Given the description of an element on the screen output the (x, y) to click on. 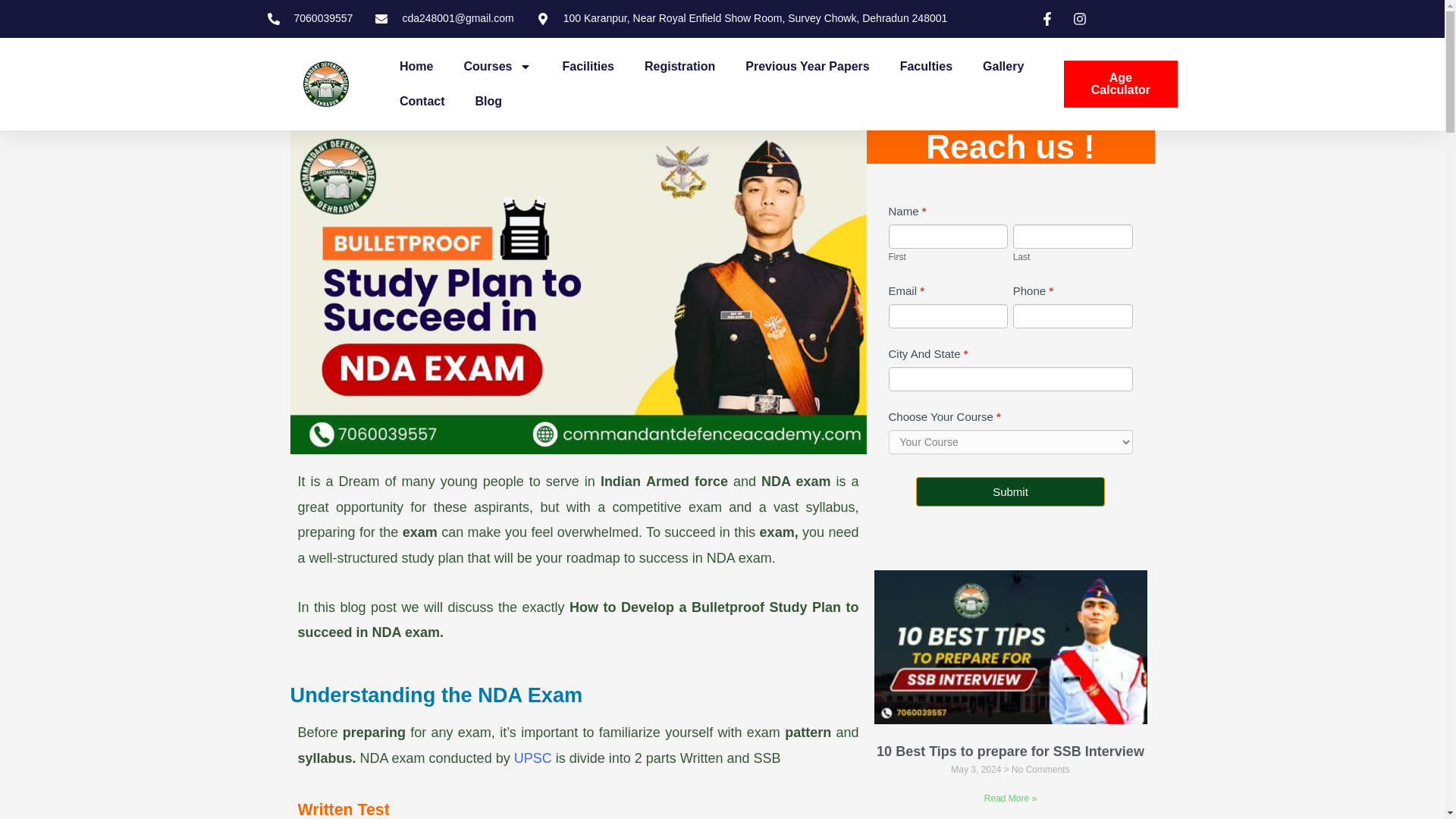
Contact (422, 101)
Faculties (926, 66)
Registration (679, 66)
Submit (1010, 491)
Gallery (1003, 66)
7060039557 (309, 18)
Home (416, 66)
Blog (489, 101)
Previous Year Papers (806, 66)
Facilities (587, 66)
Age Calculator (1120, 83)
Courses (497, 66)
10 Best Tips to prepare for SSB Interview (1010, 751)
